Given the description of an element on the screen output the (x, y) to click on. 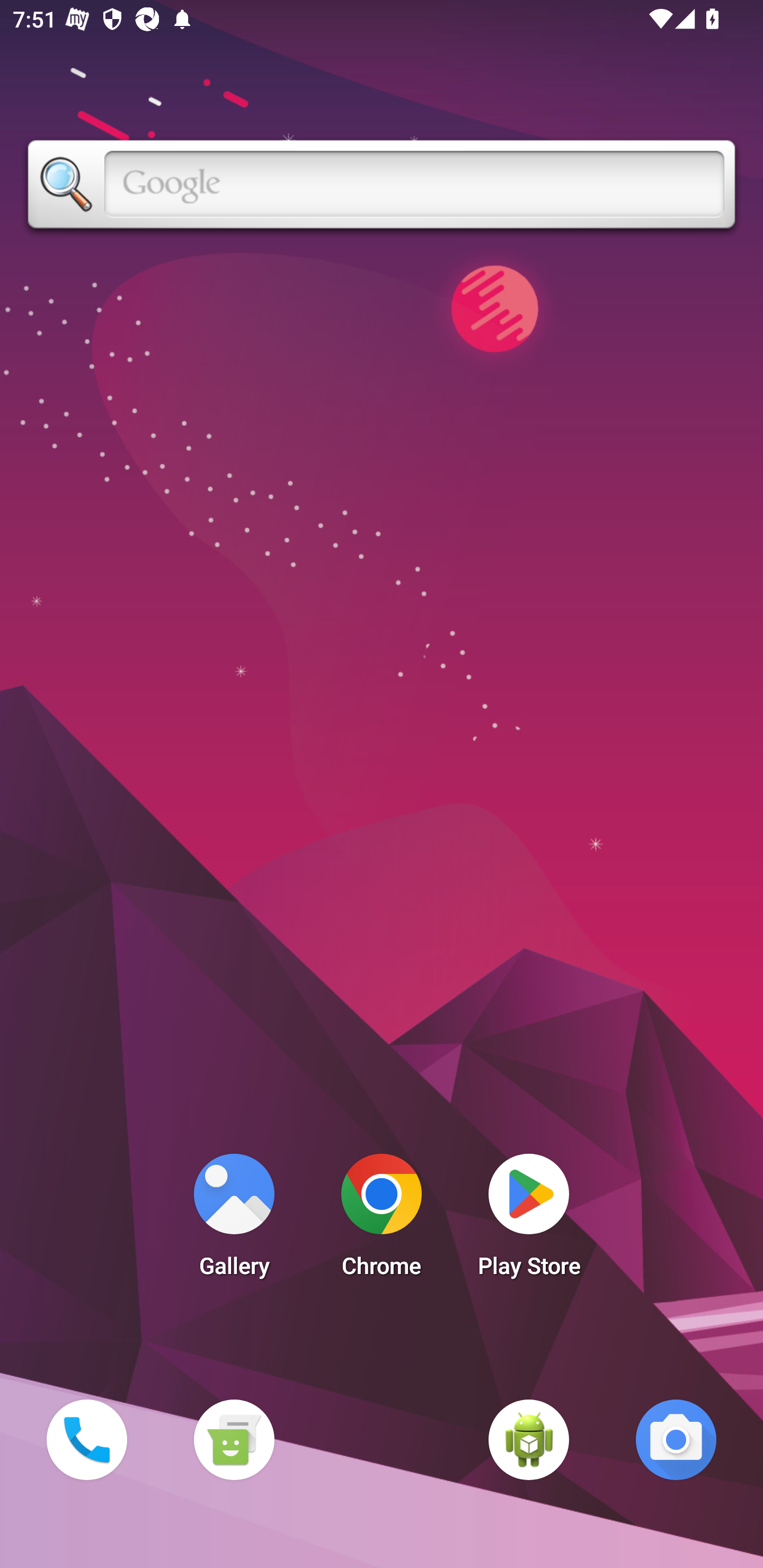
Gallery (233, 1220)
Chrome (381, 1220)
Play Store (528, 1220)
Phone (86, 1439)
Messaging (233, 1439)
WebView Browser Tester (528, 1439)
Camera (676, 1439)
